Given the description of an element on the screen output the (x, y) to click on. 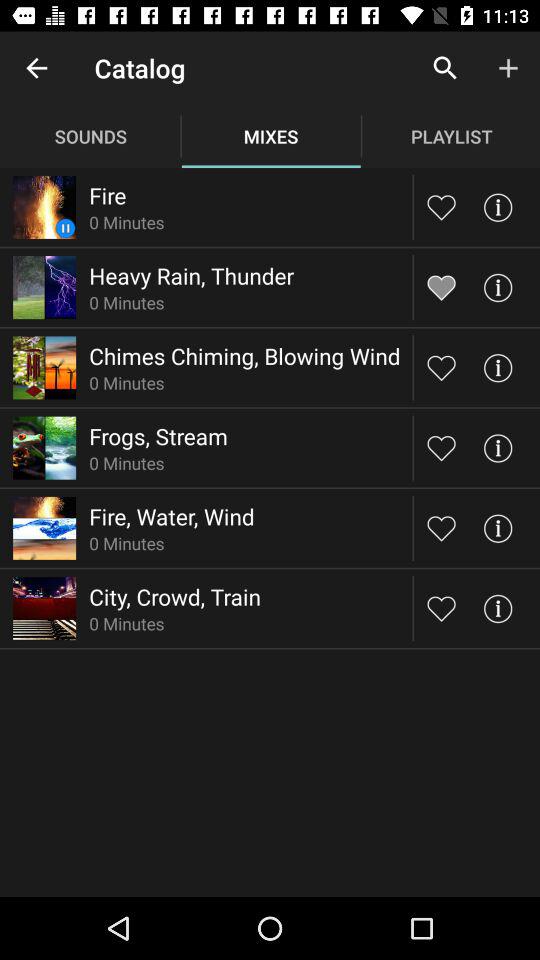
get information (498, 447)
